Given the description of an element on the screen output the (x, y) to click on. 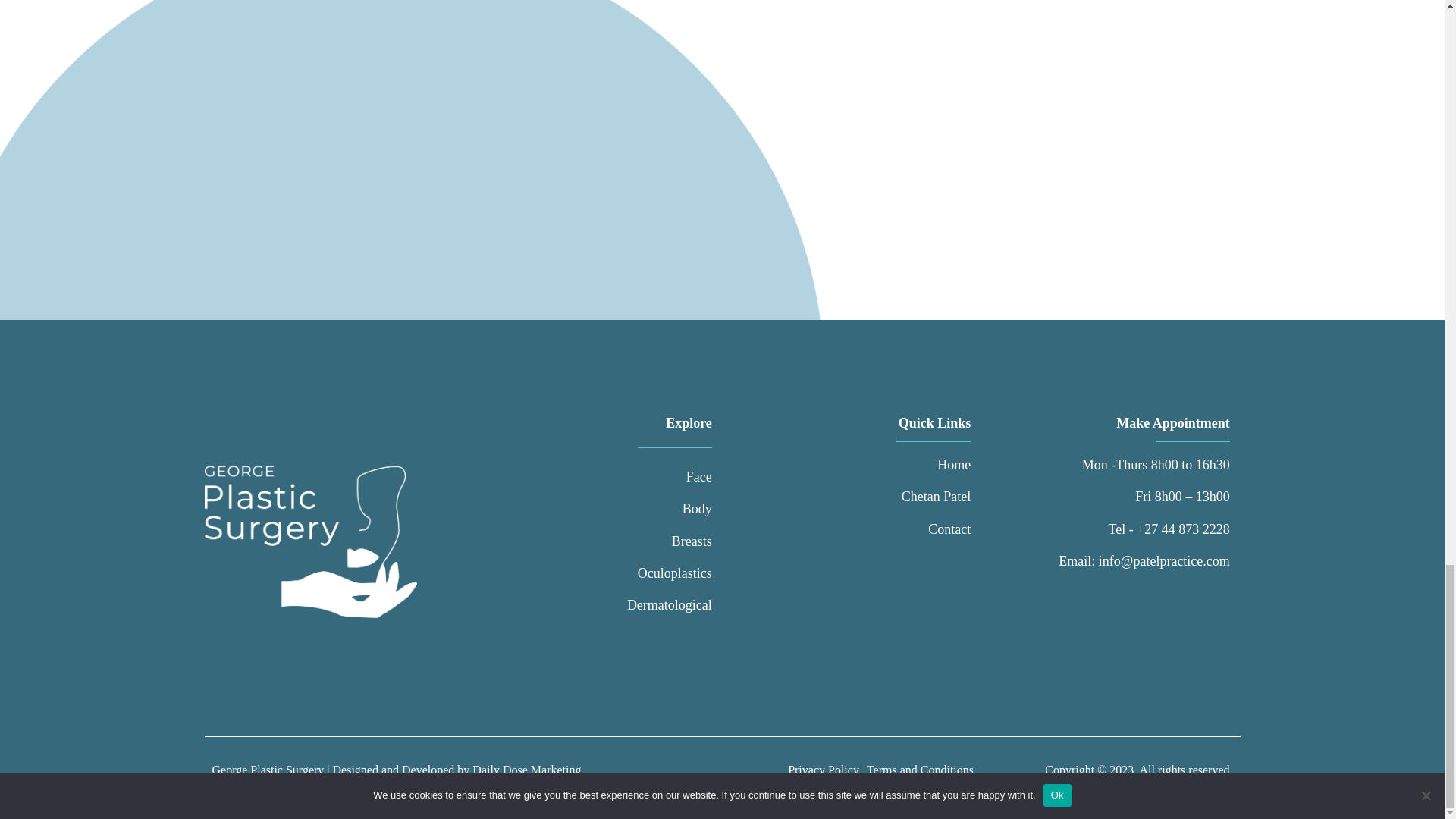
Home (936, 464)
Breasts (669, 541)
Contact (936, 528)
Chetan Patel (936, 496)
Designed and Developed by Daily Dose Marketing (456, 769)
Privacy Policy (823, 771)
Oculoplastics (669, 573)
Face (669, 476)
Dermatological (669, 604)
Body (669, 508)
Terms and Conditions (920, 771)
